Given the description of an element on the screen output the (x, y) to click on. 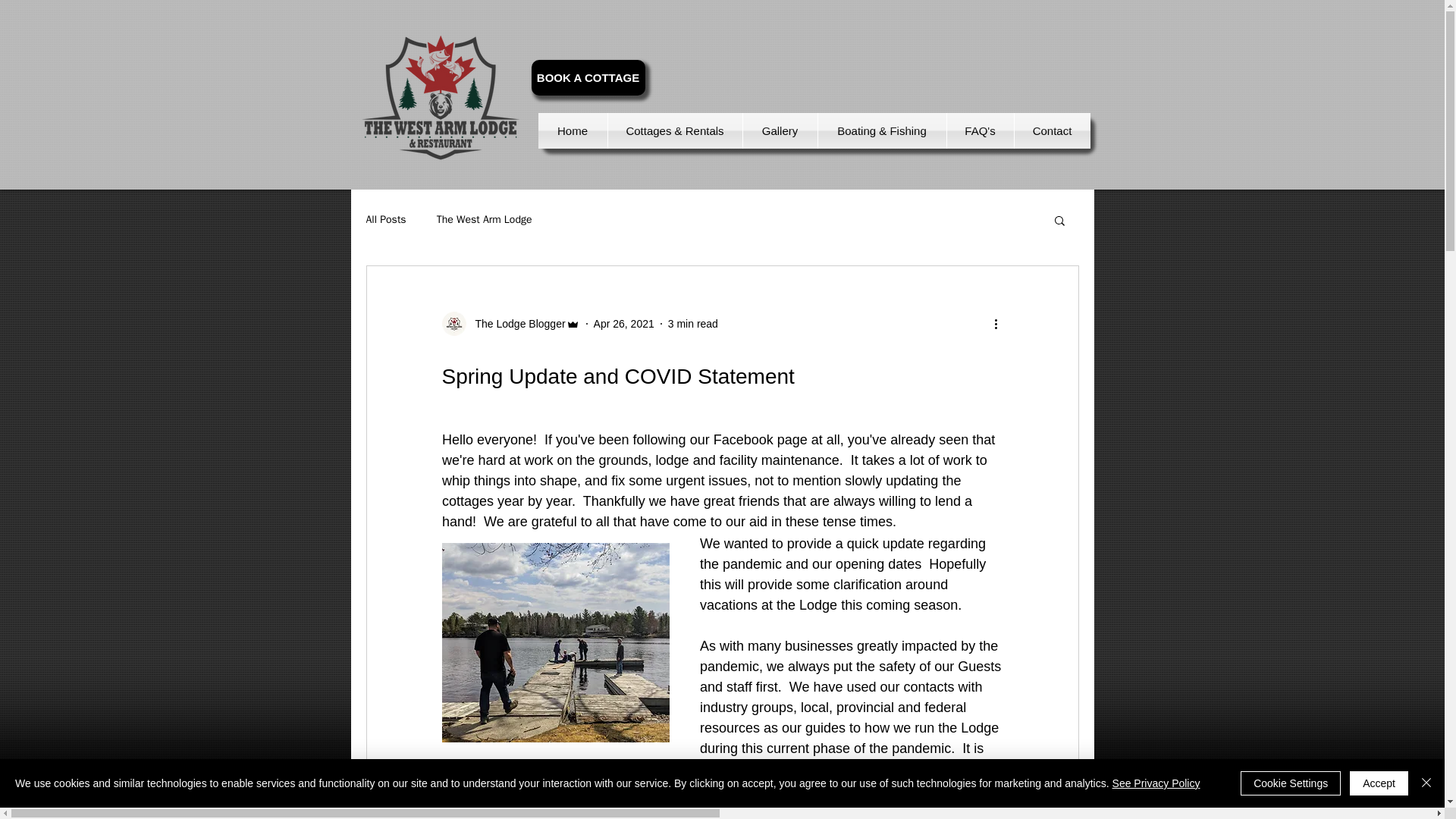
Contact (1052, 130)
The Lodge Blogger (514, 323)
3 min read (692, 322)
FAQ's (979, 130)
BOOK A COTTAGE (588, 77)
The West Arm Lodge (484, 219)
The Lodge Blogger (510, 323)
Gallery (779, 130)
All Posts (385, 219)
Apr 26, 2021 (623, 322)
Home (572, 130)
